Given the description of an element on the screen output the (x, y) to click on. 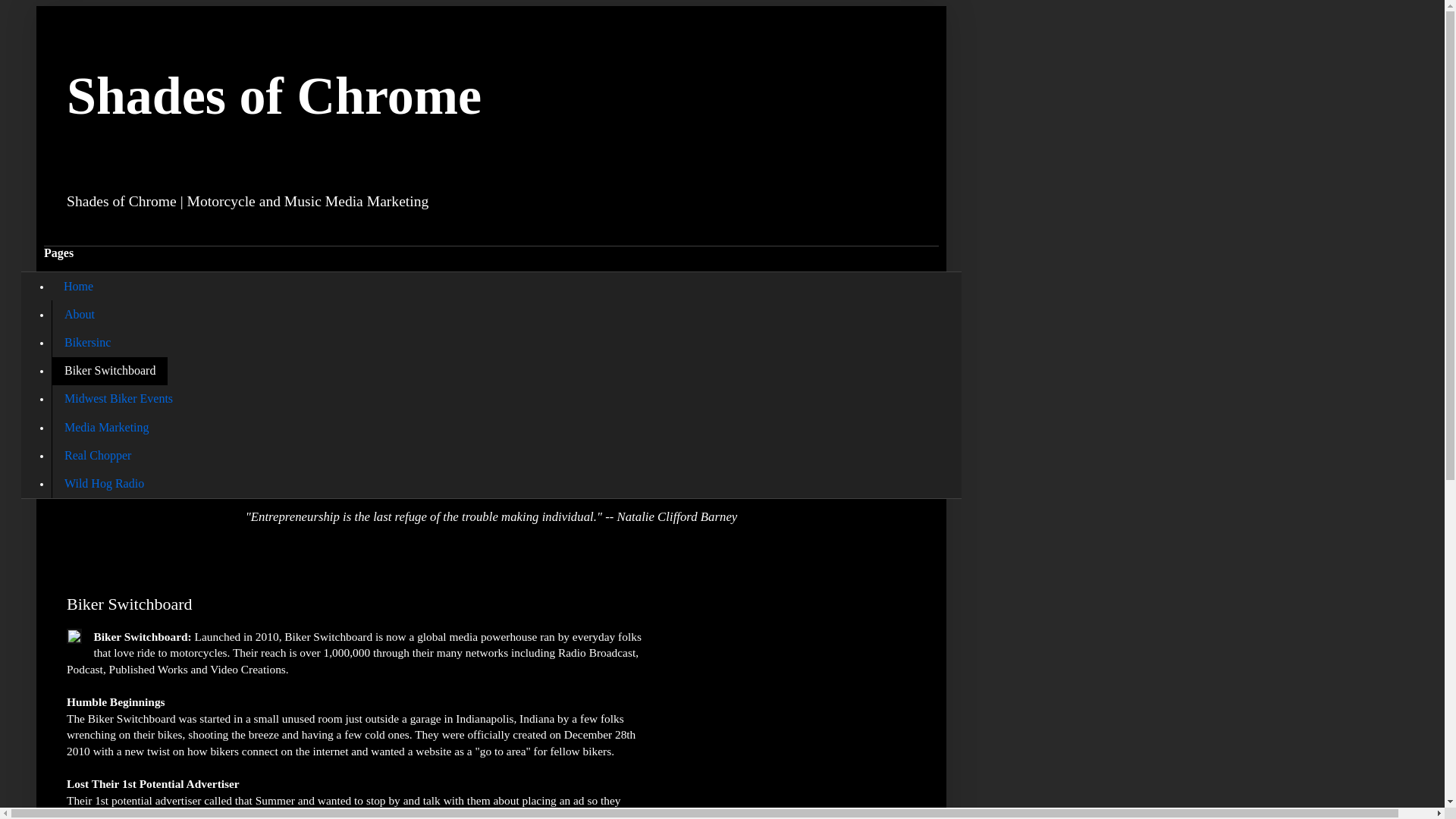
Wild Hog Radio (102, 483)
Bikersinc (86, 342)
Midwest Biker Events (117, 398)
Media Marketing (105, 427)
Home (77, 285)
Real Chopper (96, 455)
Shades of Chrome (273, 95)
About (78, 314)
Biker Switchboard (108, 370)
